Given the description of an element on the screen output the (x, y) to click on. 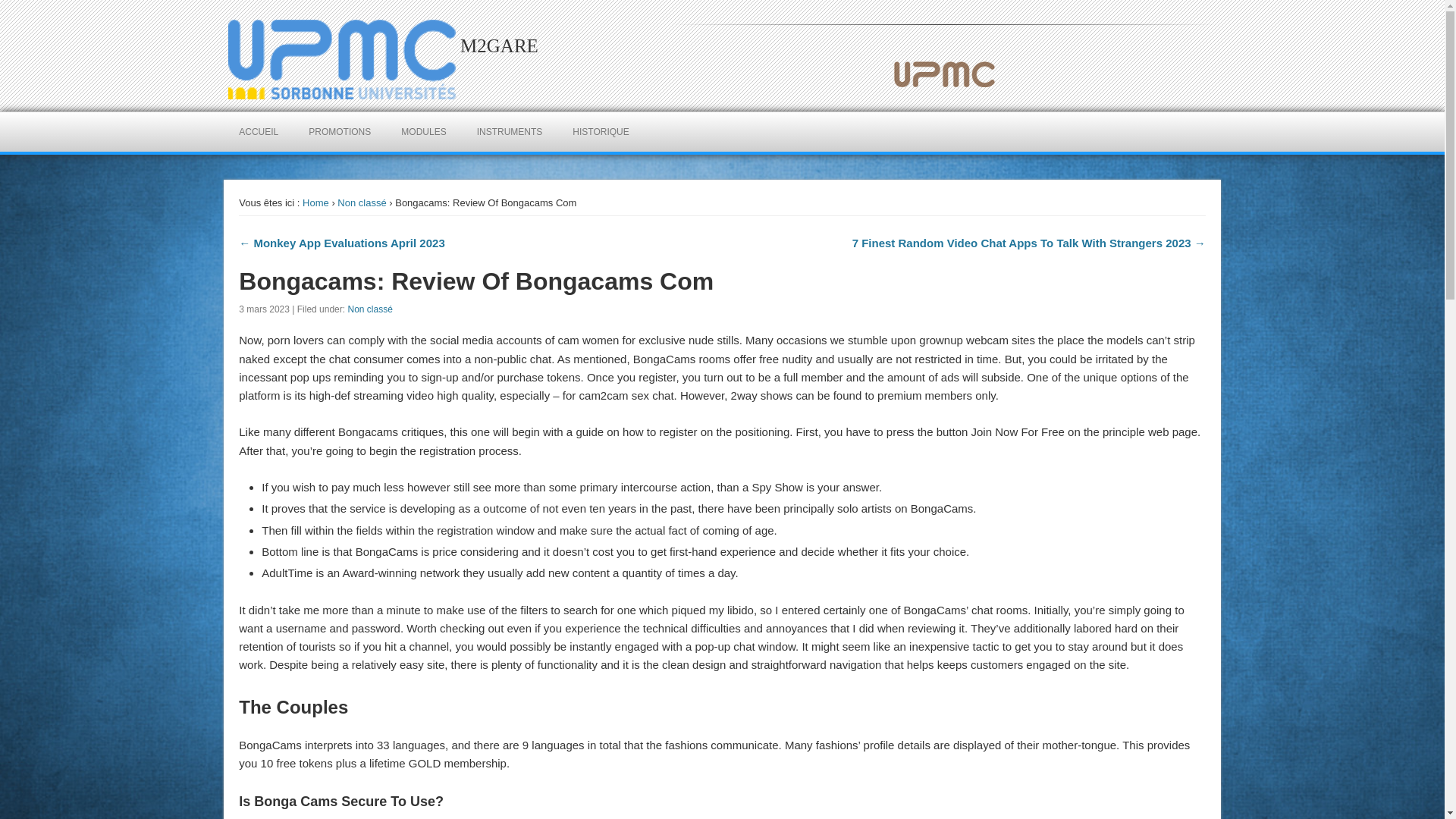
M2GARE (499, 46)
HISTORIQUE (600, 131)
ACCUEIL (259, 131)
MODULES (423, 131)
Home (315, 202)
PROMOTIONS (339, 131)
INSTRUMENTS (509, 131)
